Given the description of an element on the screen output the (x, y) to click on. 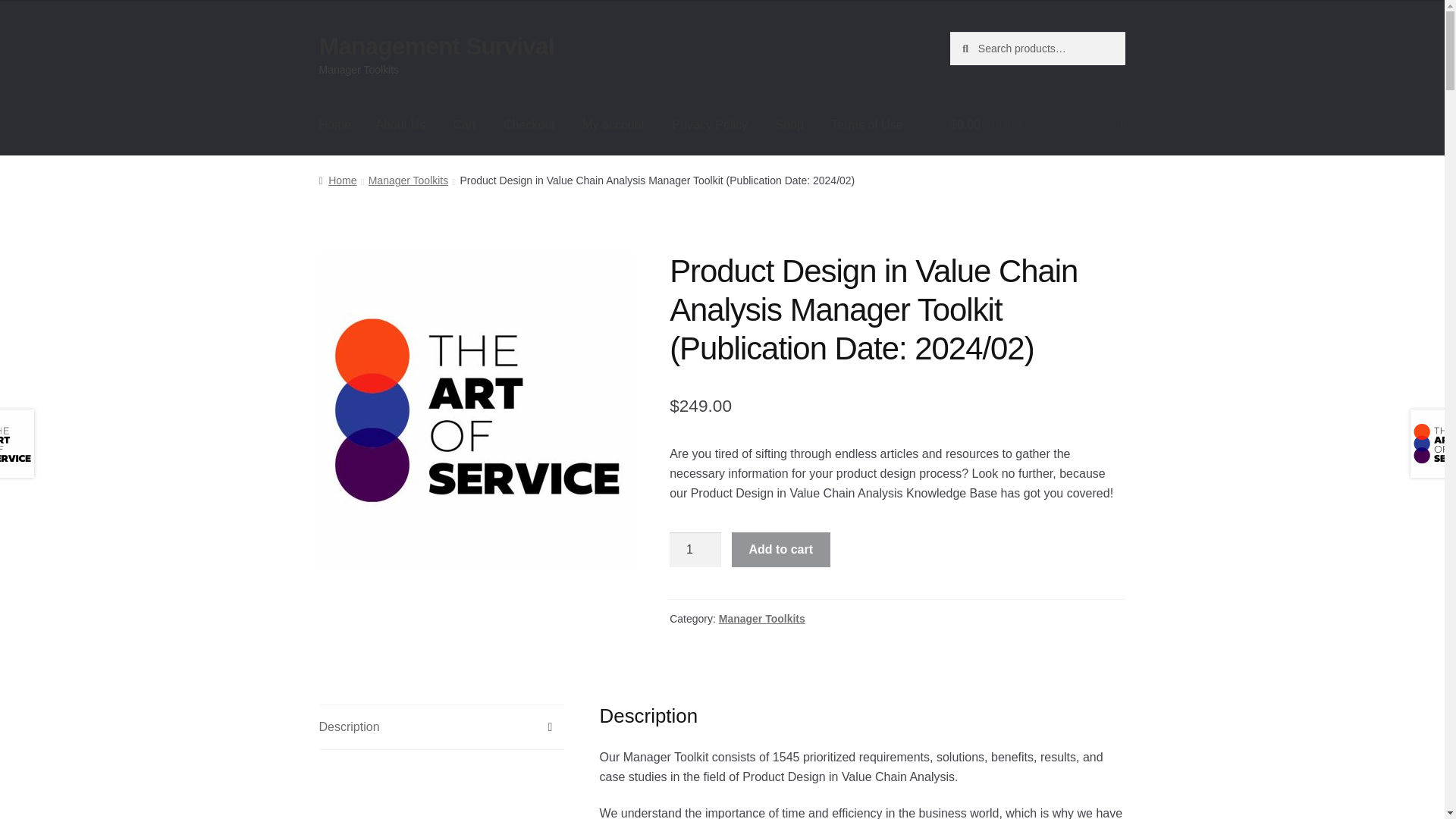
About Us (400, 124)
Home (335, 124)
Description (441, 727)
Management Survival (436, 45)
My account (613, 124)
1 (694, 549)
View your shopping cart (1037, 124)
Manager Toolkits (408, 180)
